Given the description of an element on the screen output the (x, y) to click on. 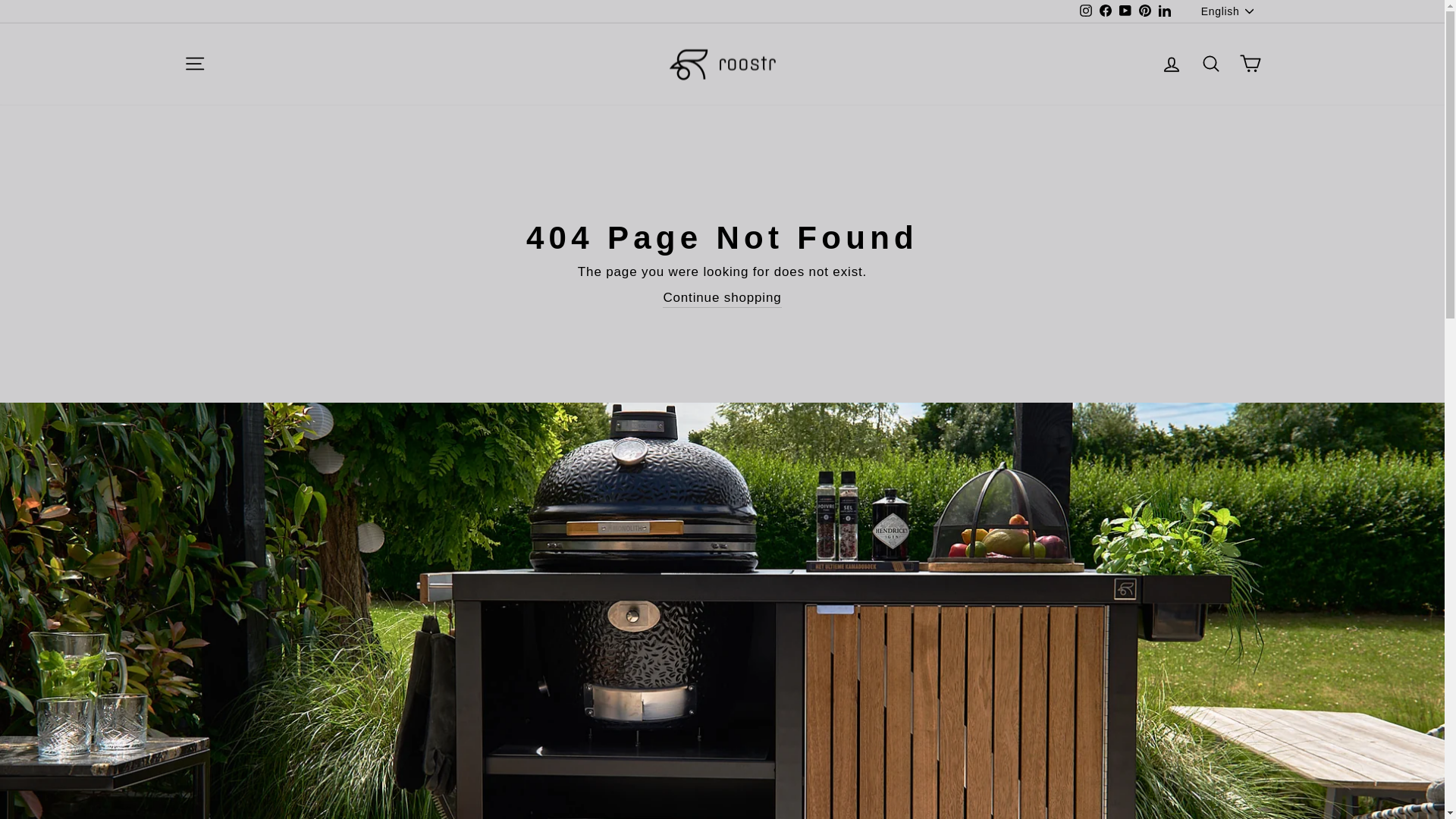
instagram (1086, 10)
icon-search (1210, 63)
account (1170, 64)
icon-hamburger (194, 63)
